Given the description of an element on the screen output the (x, y) to click on. 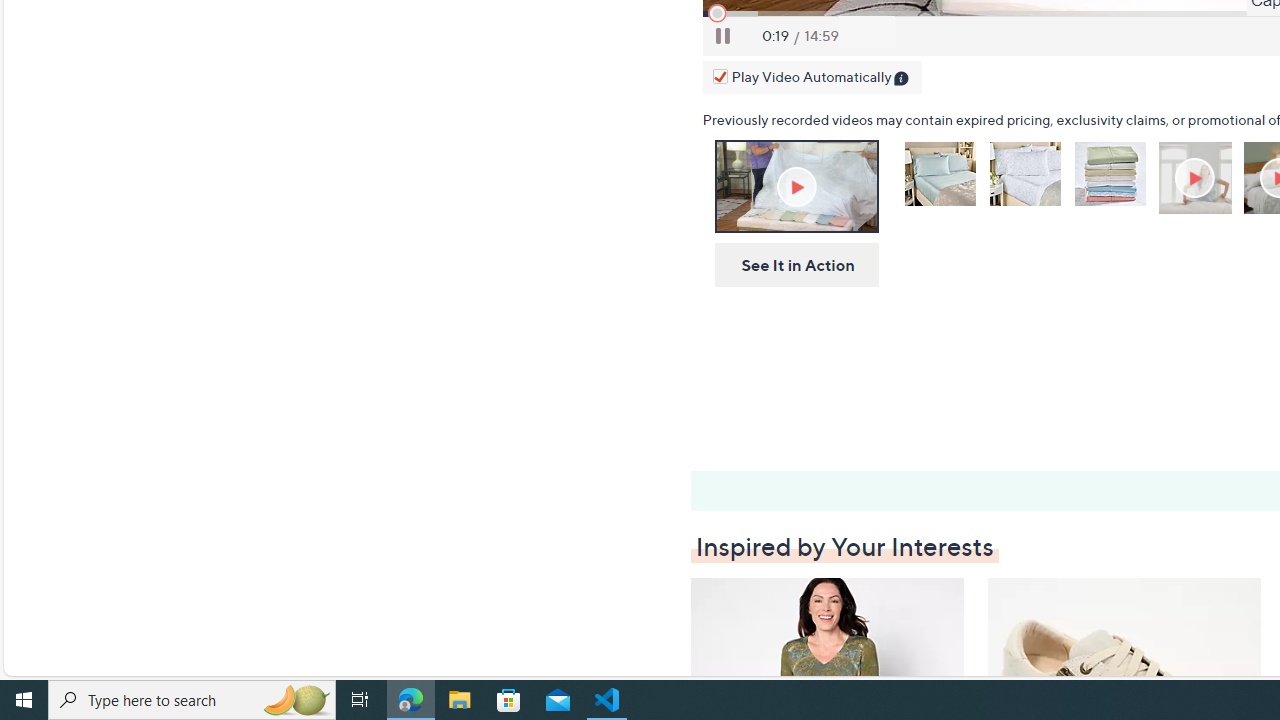
Picture-in-Picture (866, 35)
Pause (723, 35)
See It in Action (790, 265)
Class: infoIcon (902, 80)
On-Air Presentation (795, 186)
Product Features (1197, 178)
